Given the description of an element on the screen output the (x, y) to click on. 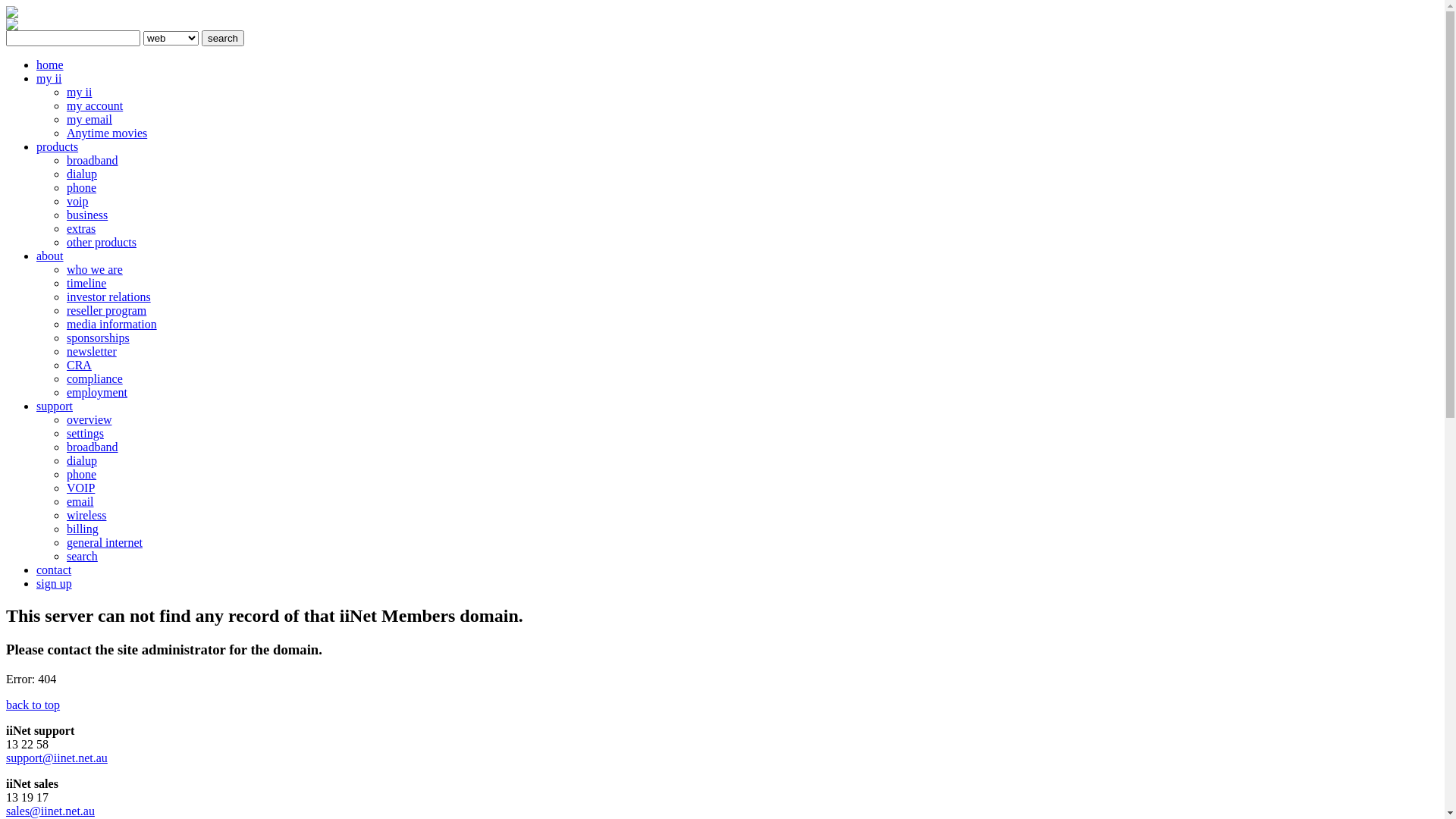
overview Element type: text (89, 419)
search Element type: text (222, 38)
my ii Element type: text (48, 78)
my account Element type: text (94, 105)
back to top Element type: text (32, 704)
business Element type: text (86, 214)
search Element type: text (81, 555)
sign up Element type: text (54, 583)
phone Element type: text (81, 187)
who we are Element type: text (94, 269)
contact Element type: text (53, 569)
my email Element type: text (89, 118)
Anytime movies Element type: text (106, 132)
dialup Element type: text (81, 173)
other products Element type: text (101, 241)
products Element type: text (57, 146)
about Element type: text (49, 255)
phone Element type: text (81, 473)
timeline Element type: text (86, 282)
wireless Element type: text (86, 514)
support@iinet.net.au Element type: text (56, 757)
media information Element type: text (111, 323)
extras Element type: text (80, 228)
compliance Element type: text (94, 378)
VOIP Element type: text (80, 487)
reseller program Element type: text (106, 310)
my ii Element type: text (78, 91)
home Element type: text (49, 64)
broadband Element type: text (92, 446)
support Element type: text (54, 405)
general internet Element type: text (104, 542)
settings Element type: text (84, 432)
newsletter Element type: text (91, 351)
CRA Element type: text (78, 364)
billing Element type: text (82, 528)
employment Element type: text (96, 391)
voip Element type: text (76, 200)
sponsorships Element type: text (97, 337)
email Element type: text (80, 501)
investor relations Element type: text (108, 296)
sales@iinet.net.au Element type: text (50, 810)
dialup Element type: text (81, 460)
broadband Element type: text (92, 159)
